Given the description of an element on the screen output the (x, y) to click on. 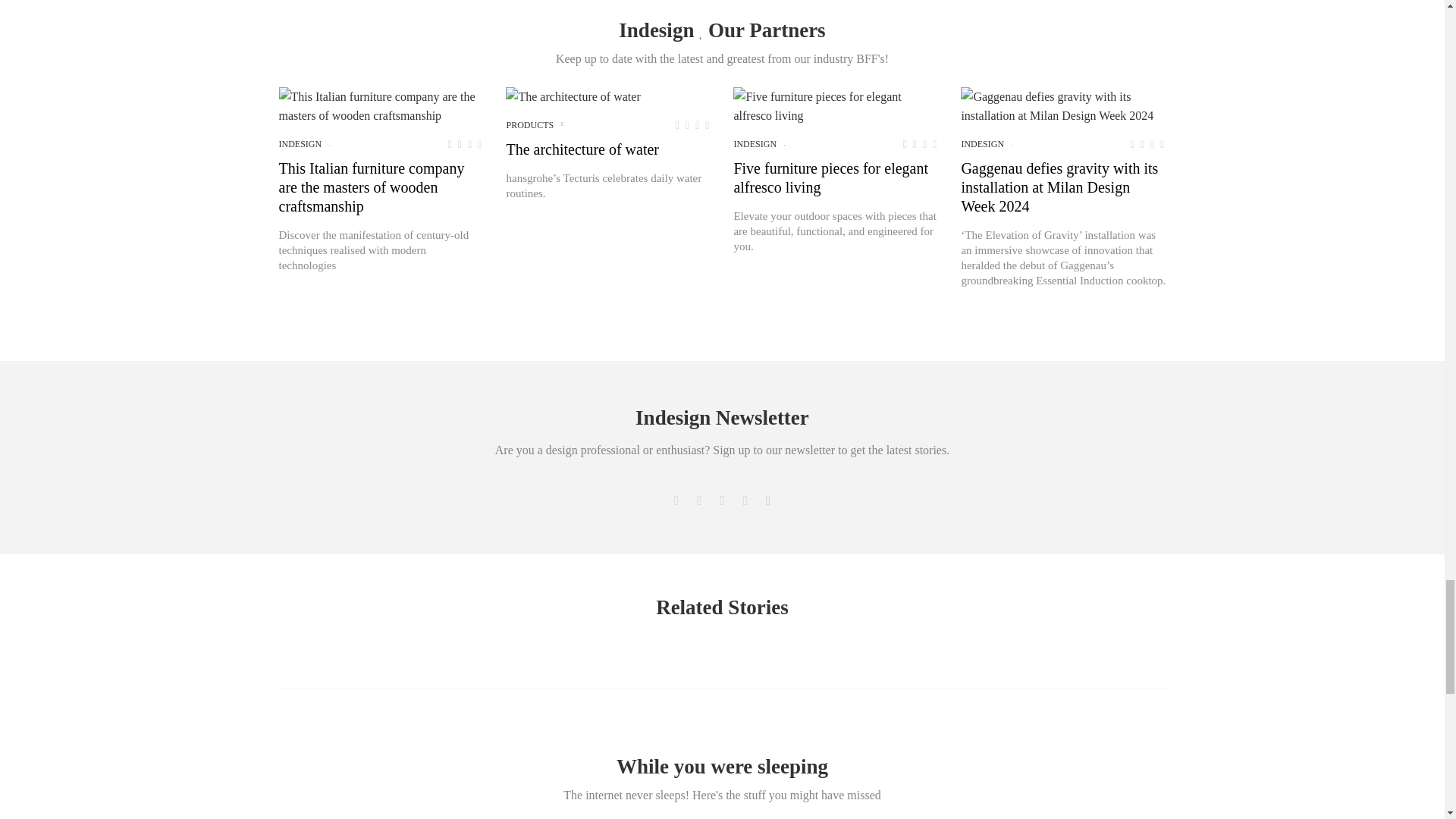
The architecture of water (572, 96)
Five furniture pieces for elegant alfresco living (835, 105)
